Given the description of an element on the screen output the (x, y) to click on. 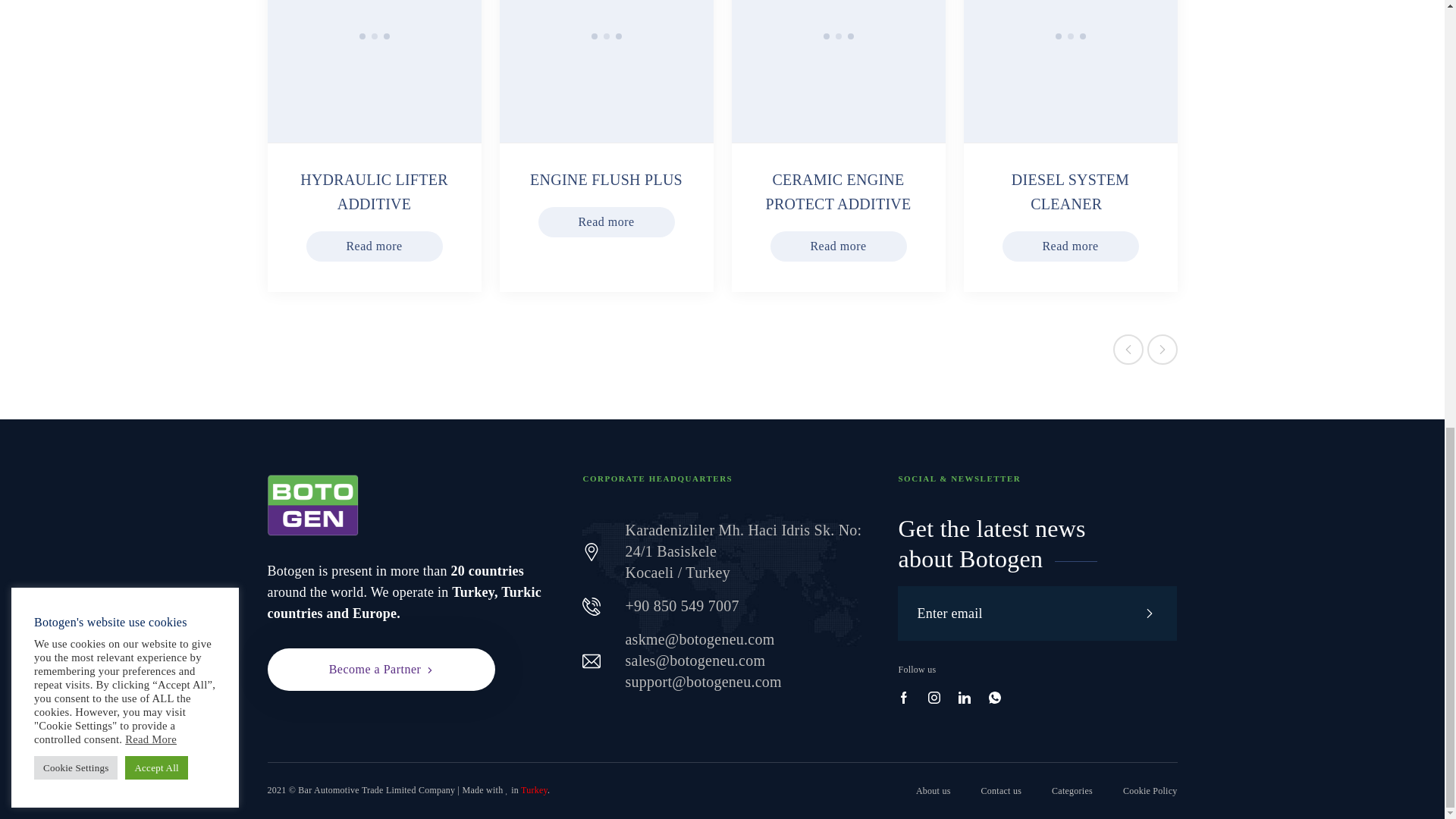
Subscribe (1149, 613)
Read more about ENGINE FLUSH PLUS (605, 179)
Read more about HYDRAULIC LIFTER ADDITIVE (373, 191)
